Given the description of an element on the screen output the (x, y) to click on. 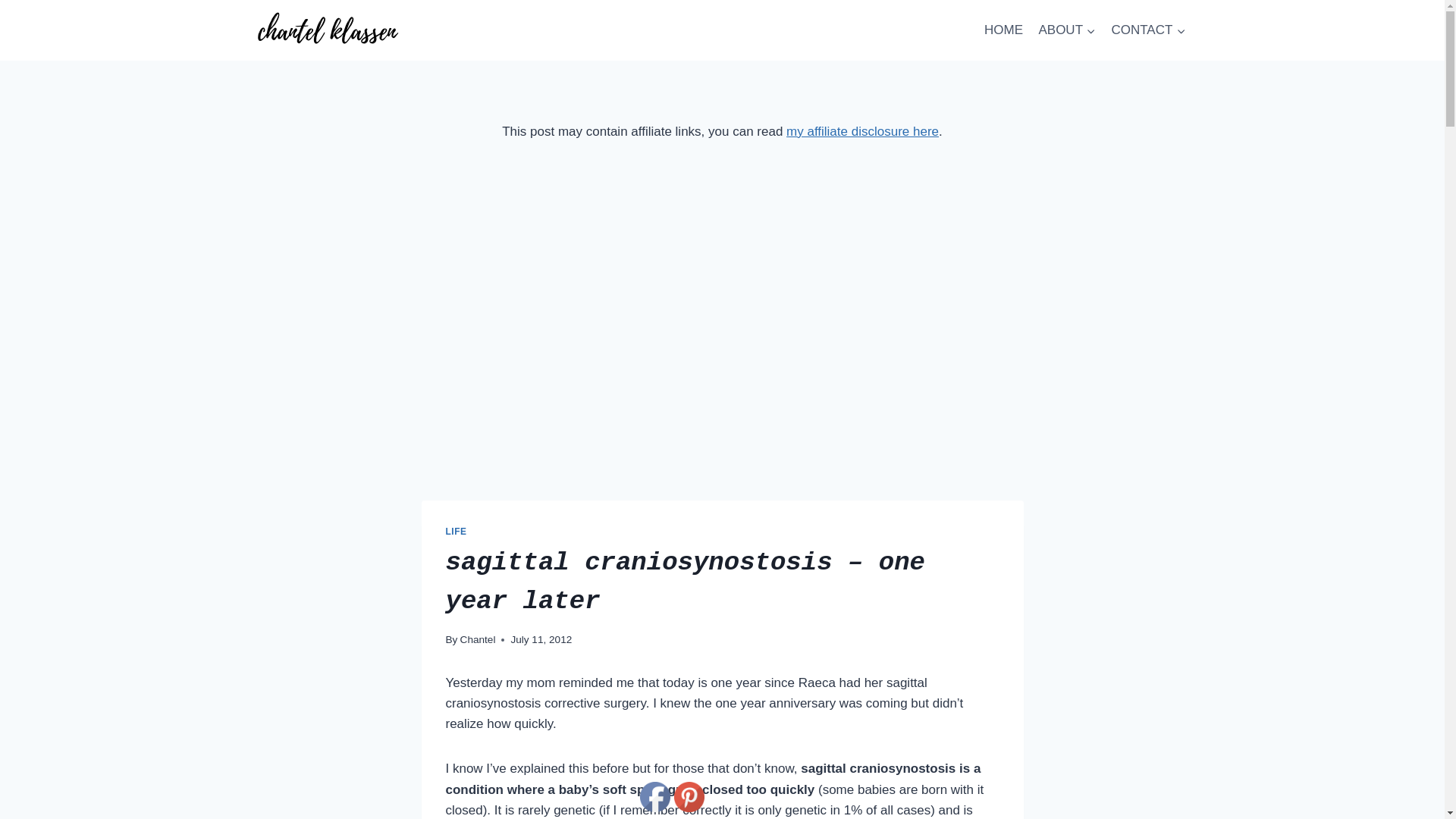
ABOUT (1066, 30)
CONTACT (1147, 30)
my affiliate disclosure here (862, 131)
Pinterest (689, 797)
Chantel (478, 639)
Facebook (654, 797)
LIFE (456, 531)
HOME (1003, 30)
